Given the description of an element on the screen output the (x, y) to click on. 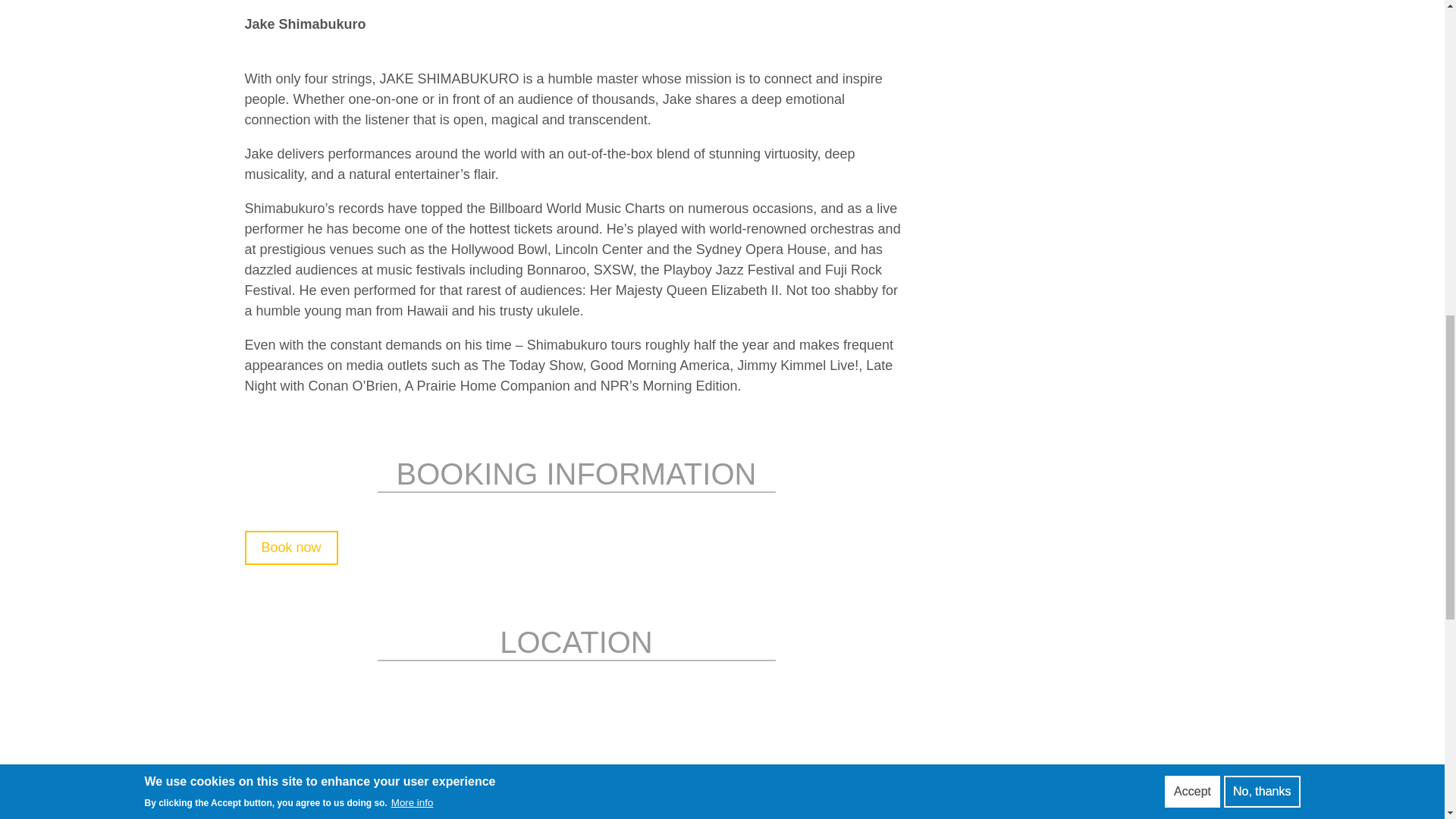
Book now (290, 547)
